Given the description of an element on the screen output the (x, y) to click on. 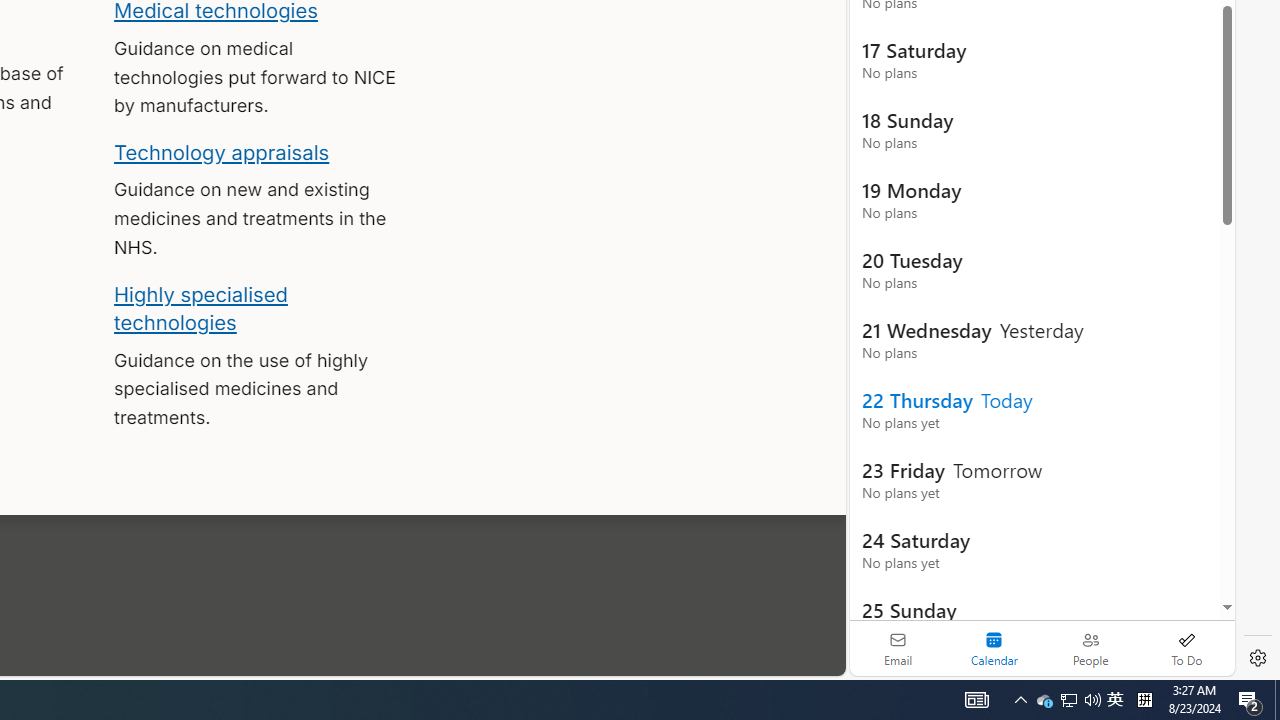
Highly specialised technologies (200, 308)
